Given the description of an element on the screen output the (x, y) to click on. 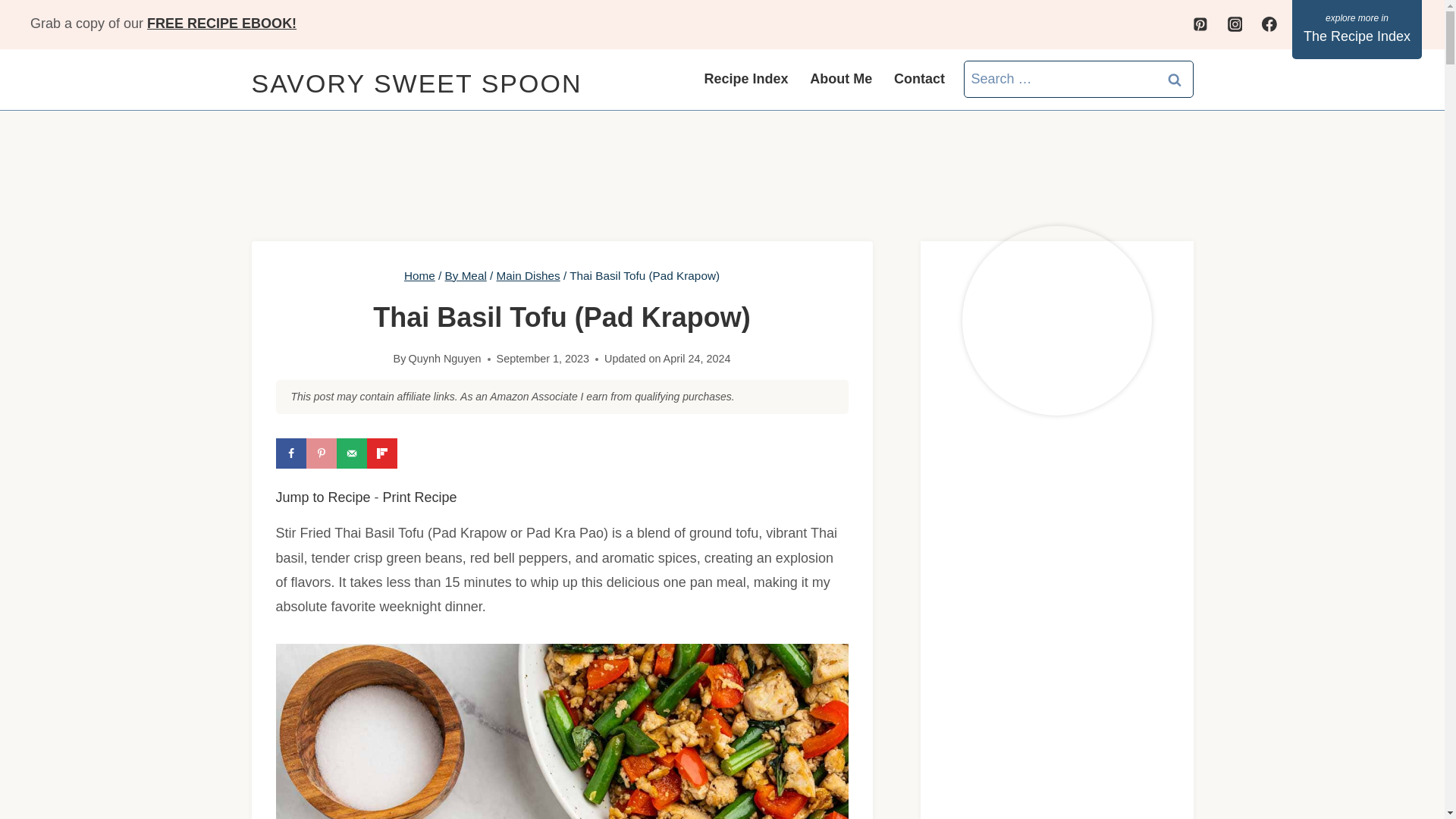
Share on Flipboard (381, 453)
Home (419, 275)
Recipe Index (746, 78)
Contact (919, 78)
By Meal (465, 275)
Send over email (351, 453)
Search (1174, 78)
FREE RECIPE EBOOK! (222, 23)
Search (1174, 78)
Quynh Nguyen (445, 358)
